Given the description of an element on the screen output the (x, y) to click on. 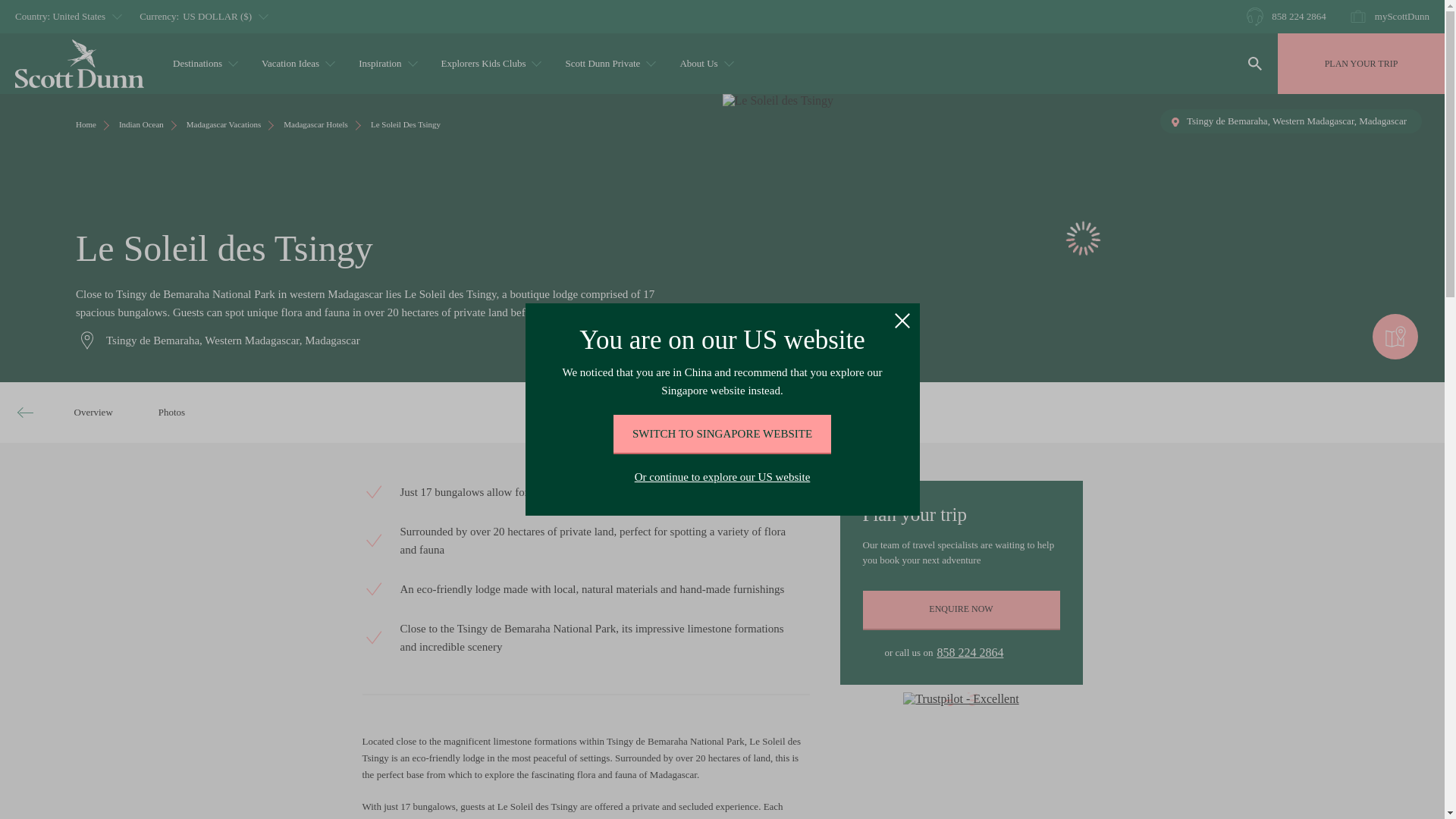
myScottDunn (1389, 16)
858 224 2864 (1286, 16)
Destinations (202, 63)
